Given the description of an element on the screen output the (x, y) to click on. 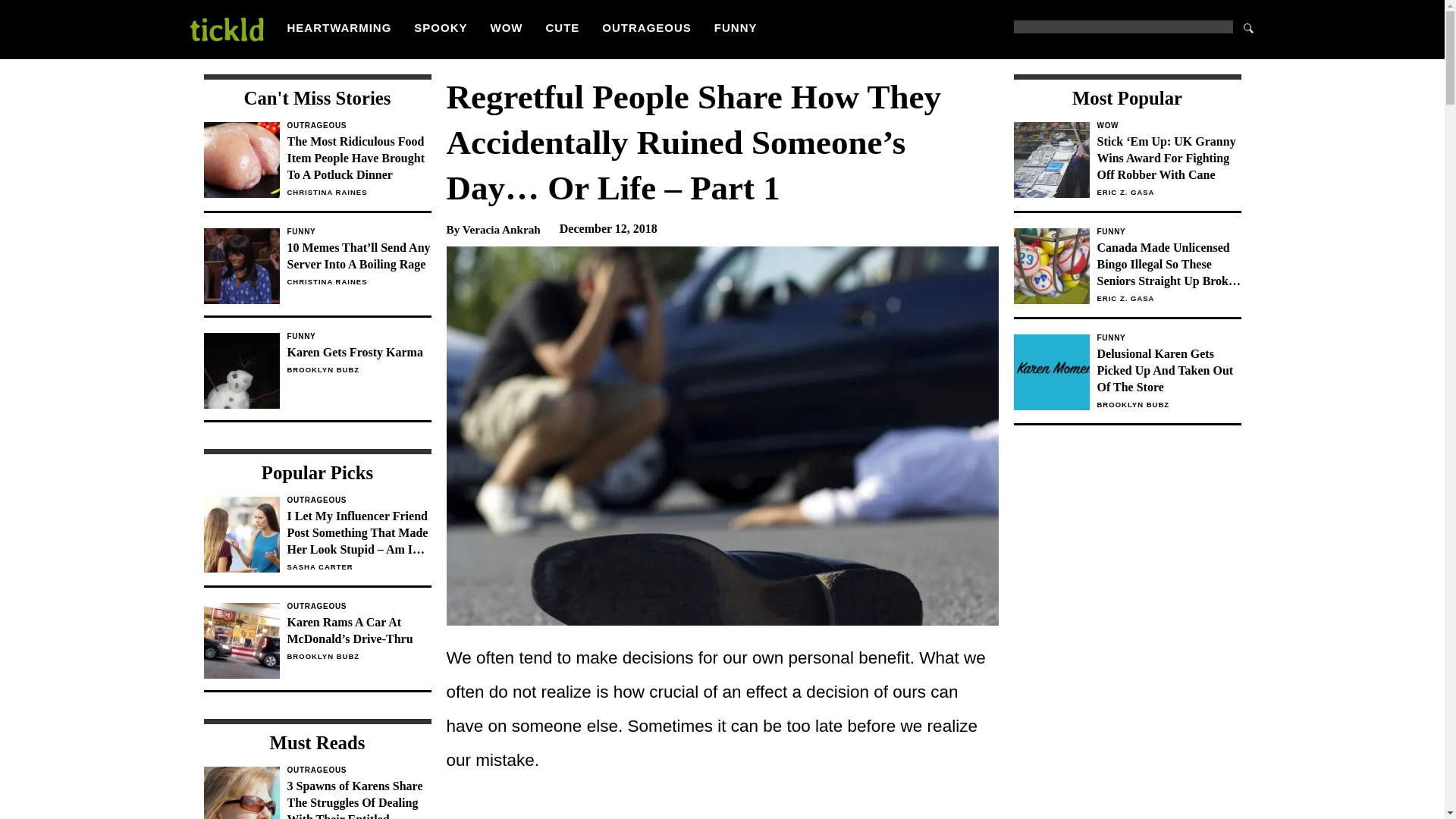
Delusional Karen Gets Picked Up And Taken Out Of The Store (1168, 370)
Funny (358, 231)
CUTE (562, 26)
Search (1248, 27)
Search (1248, 27)
Outrageous (316, 377)
